Given the description of an element on the screen output the (x, y) to click on. 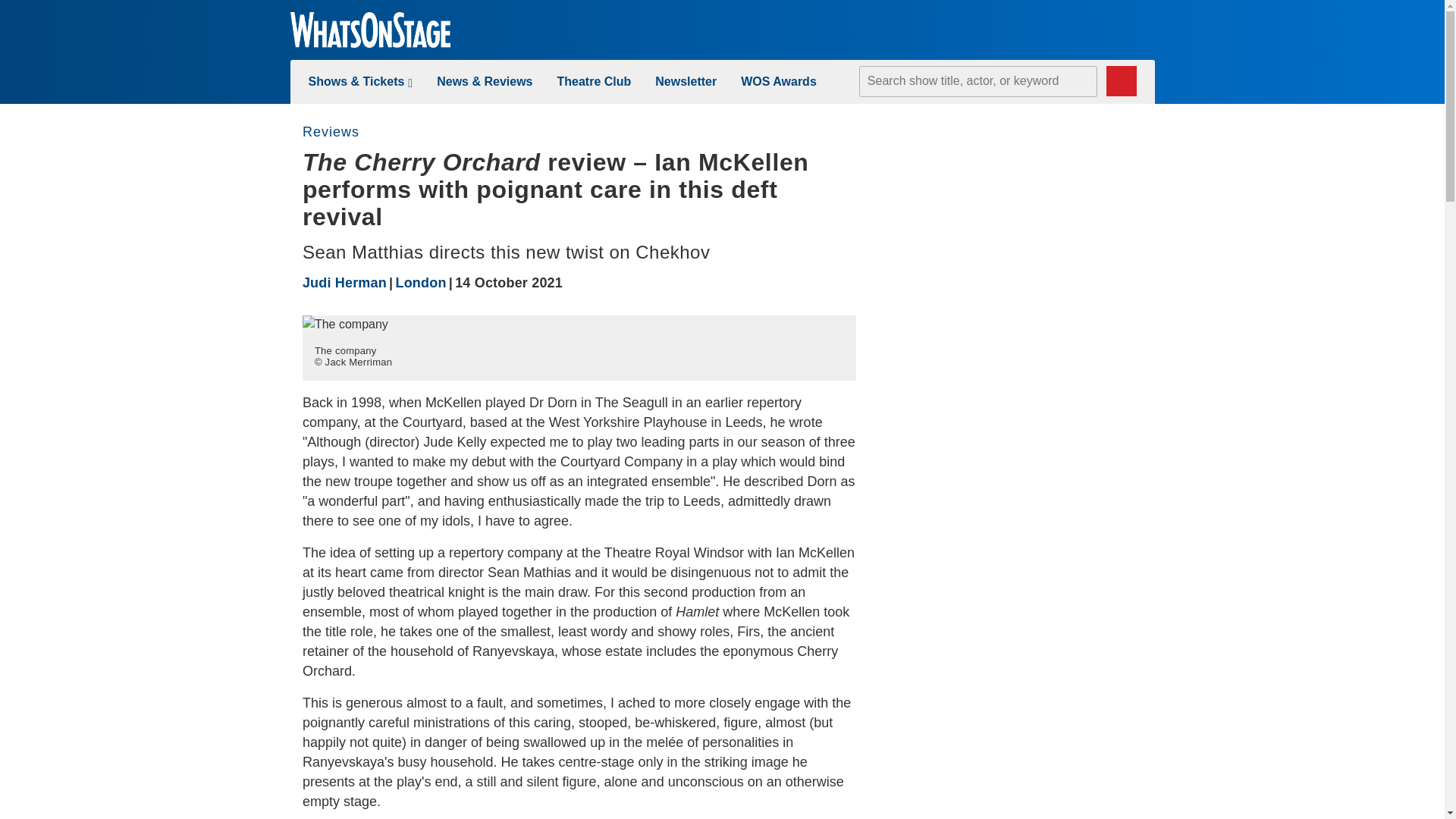
new-and-reviews-link (484, 81)
Newsletter (685, 81)
WOS Awards (778, 81)
Theatre Club (593, 81)
The company (345, 324)
